Given the description of an element on the screen output the (x, y) to click on. 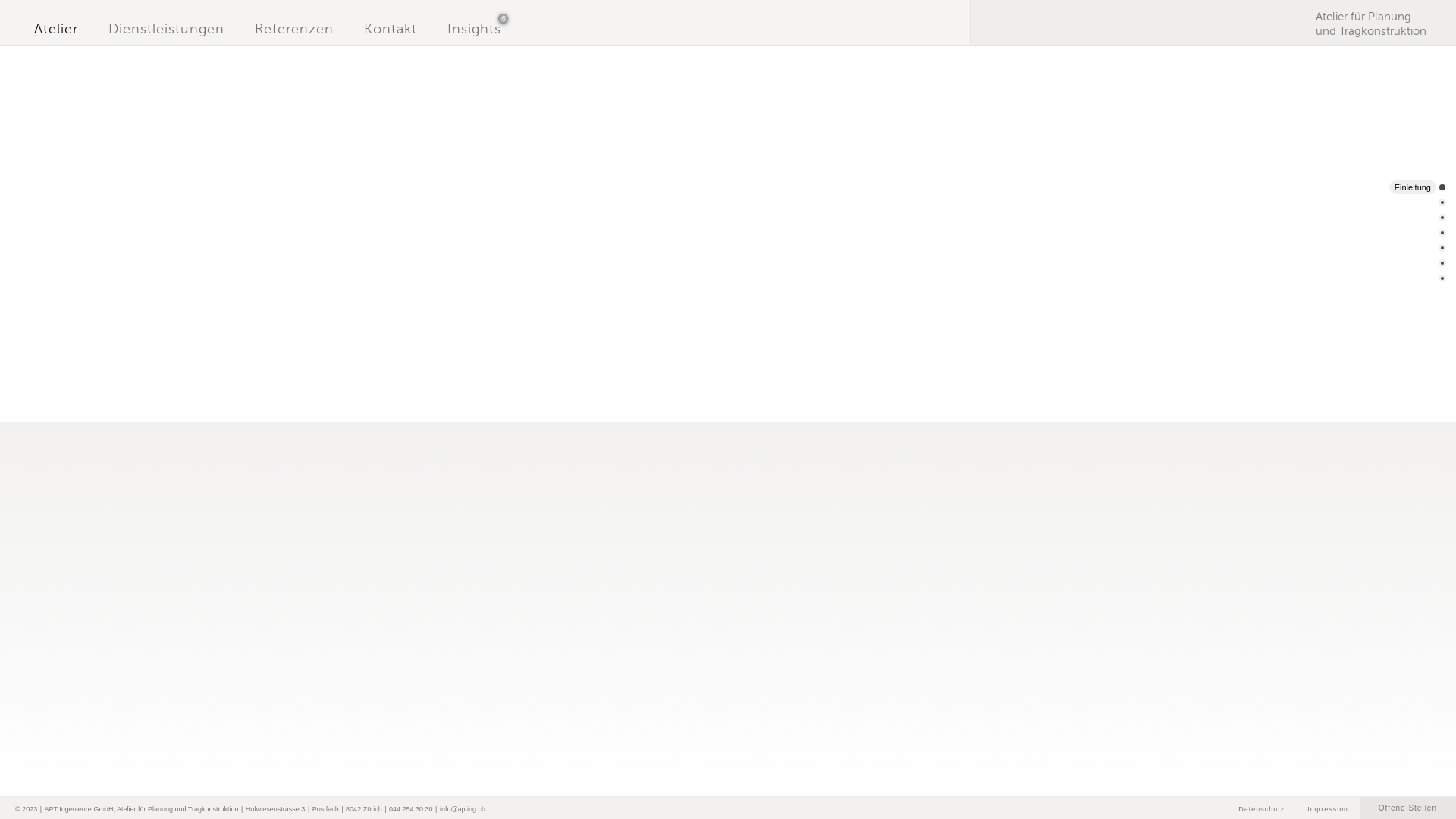
Einleitung Element type: text (1417, 187)
Referenzen Element type: text (293, 28)
Dienstleistungen Element type: text (166, 28)
Atelier Element type: text (55, 28)
Insights Element type: text (474, 28)
Kontakt Element type: text (390, 28)
info@apting.ch Element type: text (462, 808)
